Given the description of an element on the screen output the (x, y) to click on. 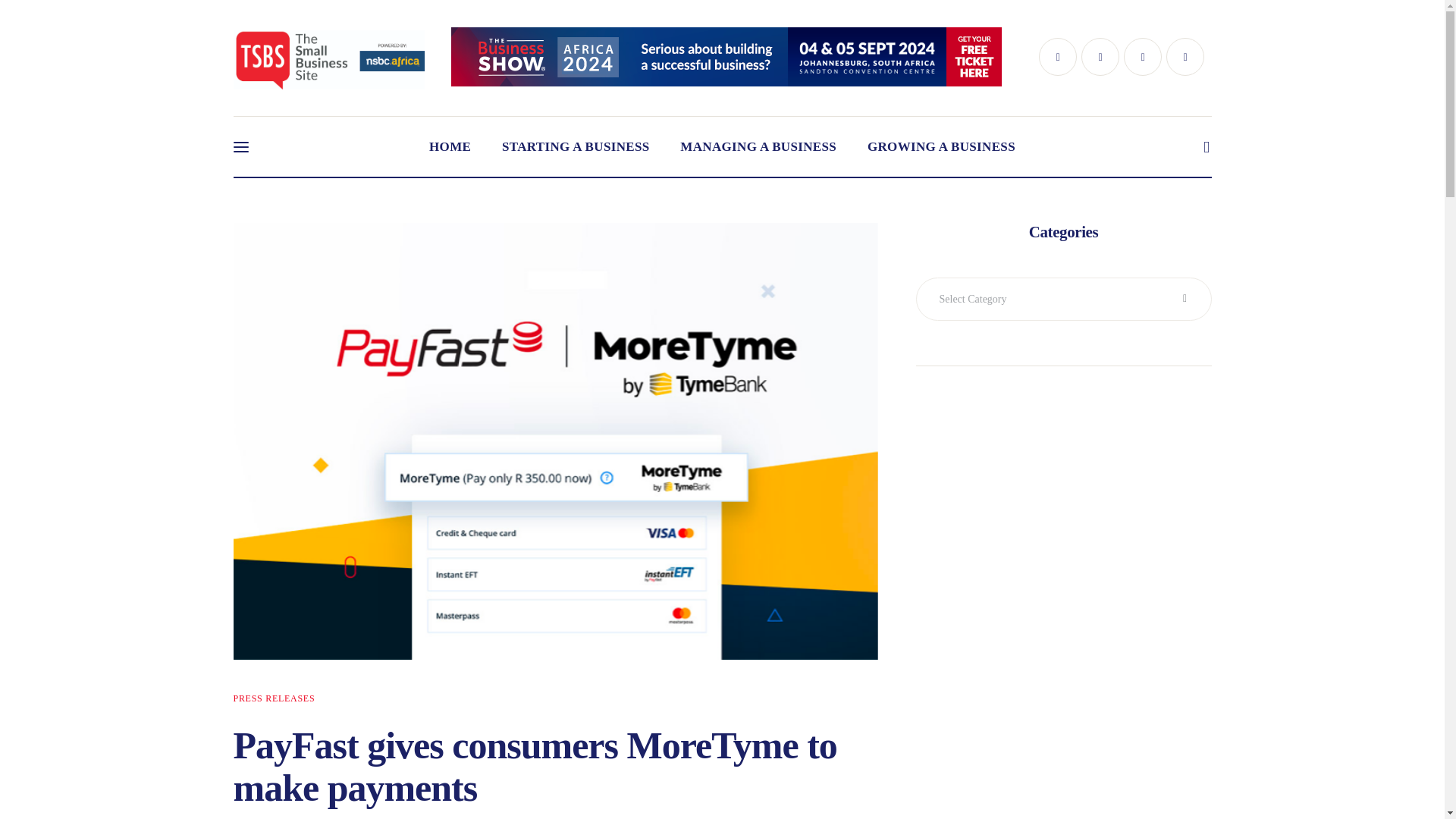
GROWING A BUSINESS (940, 146)
STARTING A BUSINESS (575, 146)
MANAGING A BUSINESS (758, 146)
PRESS RELEASES (273, 697)
HOME (449, 146)
